Given the description of an element on the screen output the (x, y) to click on. 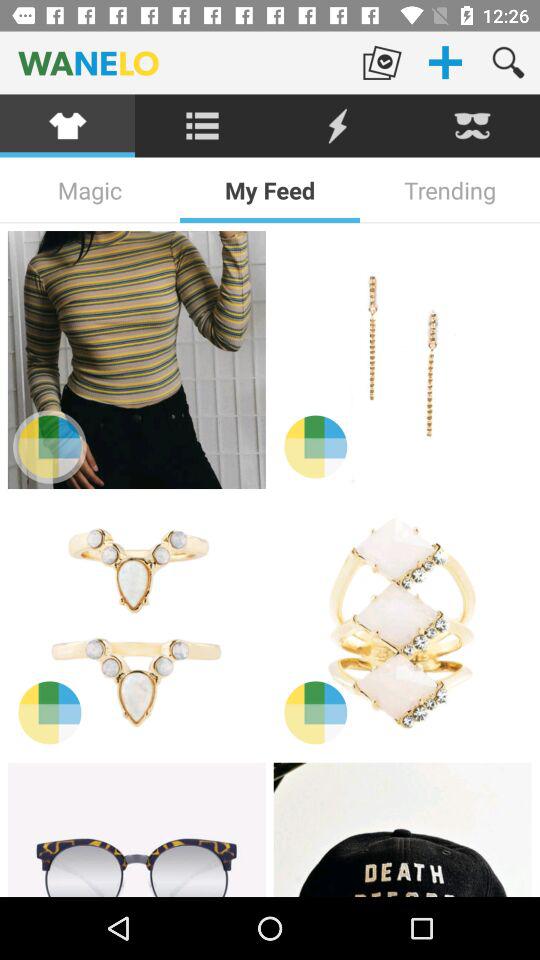
turn off the item next to the my feed item (90, 190)
